Given the description of an element on the screen output the (x, y) to click on. 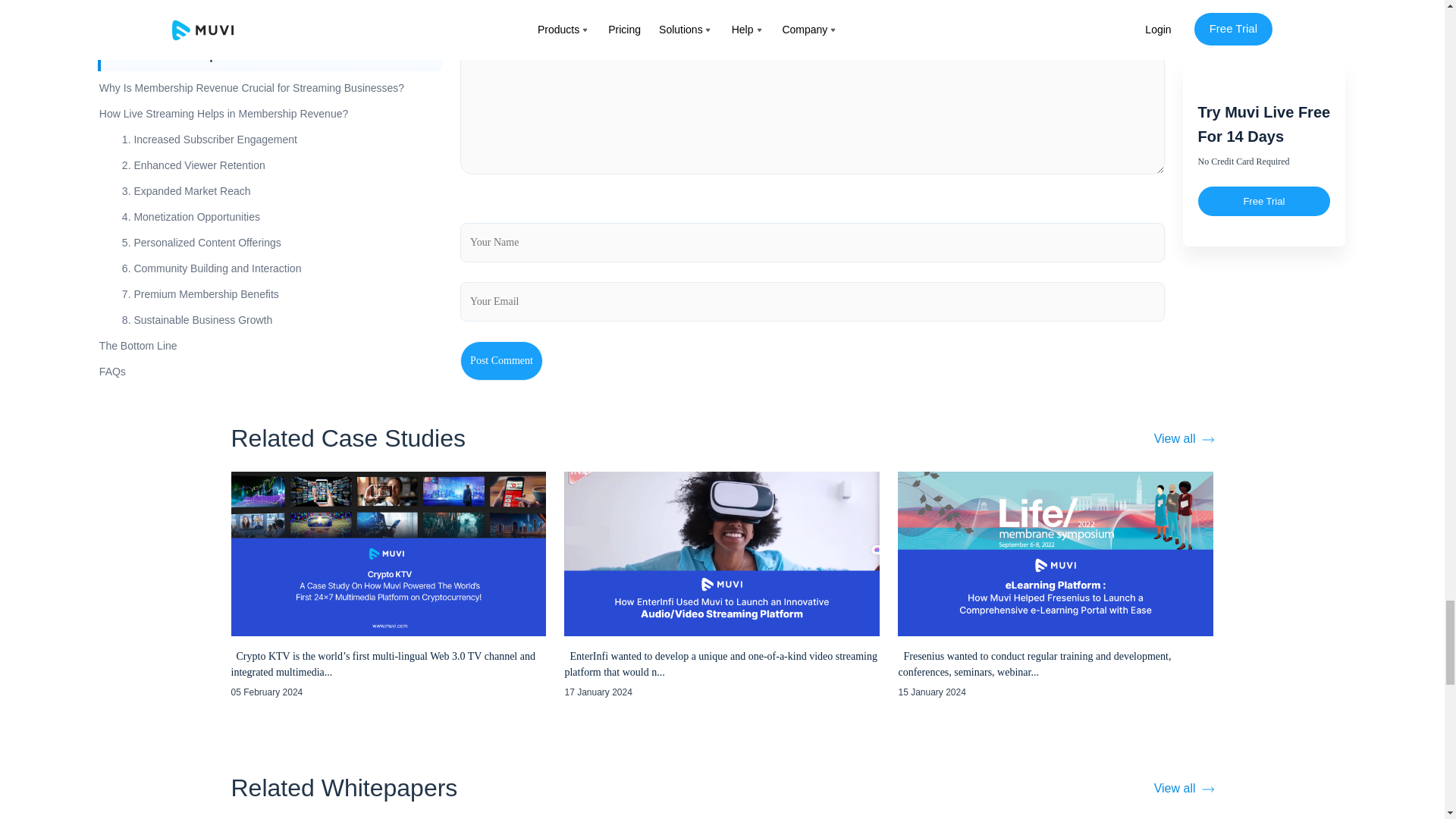
Post Comment (501, 360)
